Given the description of an element on the screen output the (x, y) to click on. 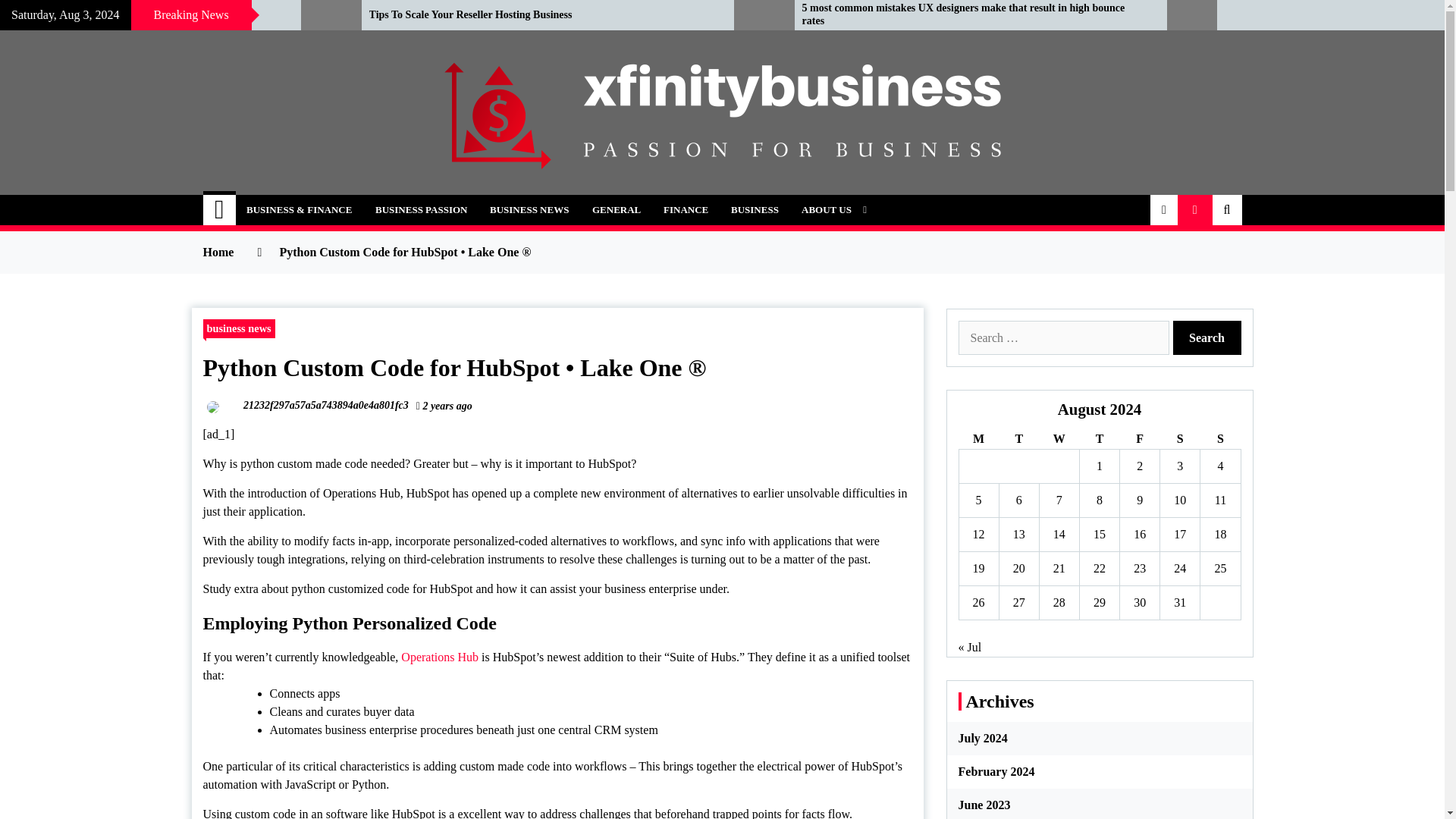
Search (1206, 337)
Saturday (1179, 439)
Wednesday (1058, 439)
Monday (978, 439)
Sunday (1219, 439)
Search (1206, 337)
Thursday (1098, 439)
Friday (1139, 439)
Tips To Scale Your Reseller Hosting Business  (540, 15)
